Given the description of an element on the screen output the (x, y) to click on. 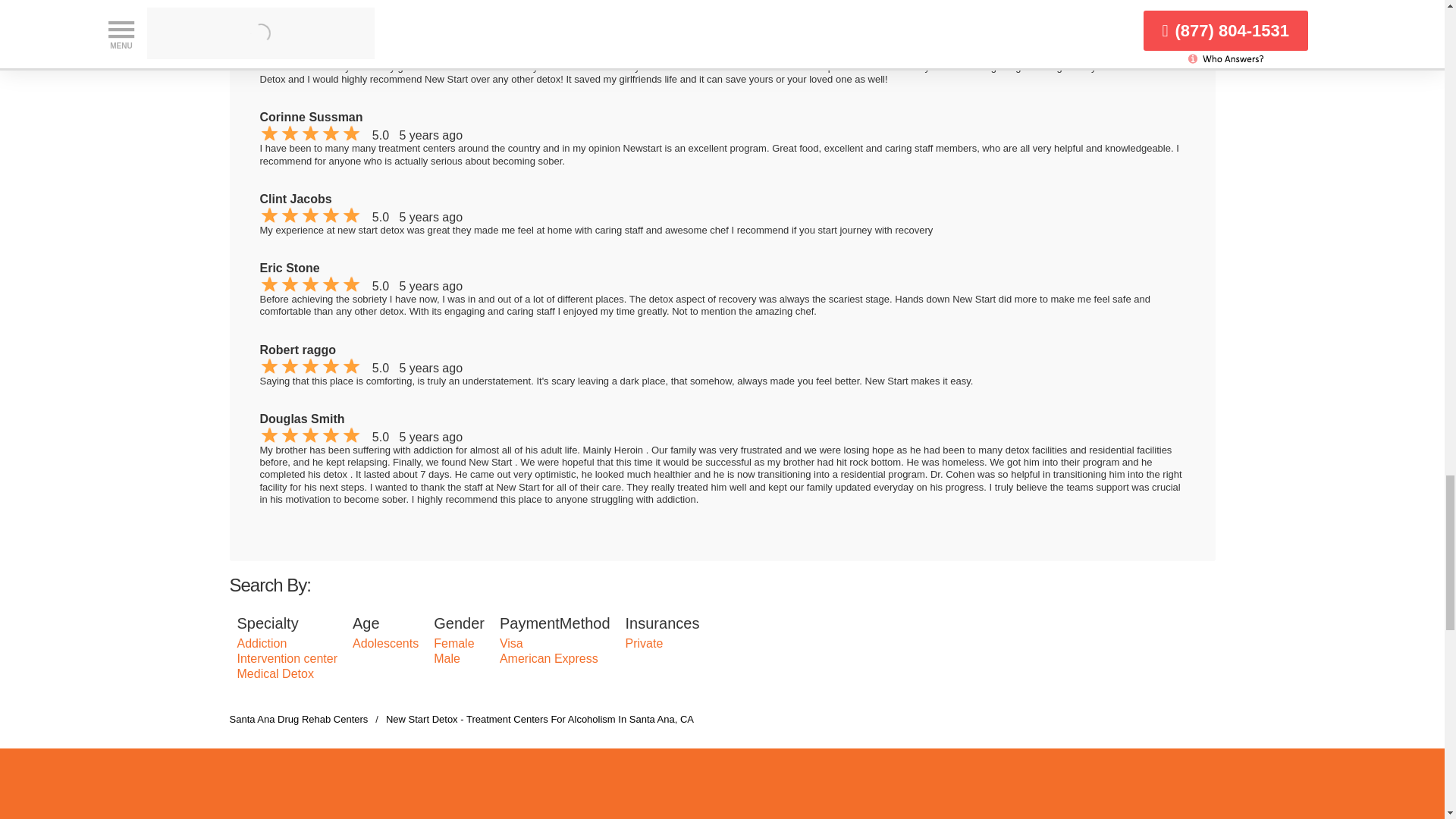
Santa Ana Drug Rehab Centers (298, 718)
American Express (548, 658)
Intervention center (286, 658)
Adolescents (385, 643)
Male (446, 658)
Medical Detox (274, 673)
Female (453, 643)
Visa (510, 643)
Addiction (260, 643)
